Given the description of an element on the screen output the (x, y) to click on. 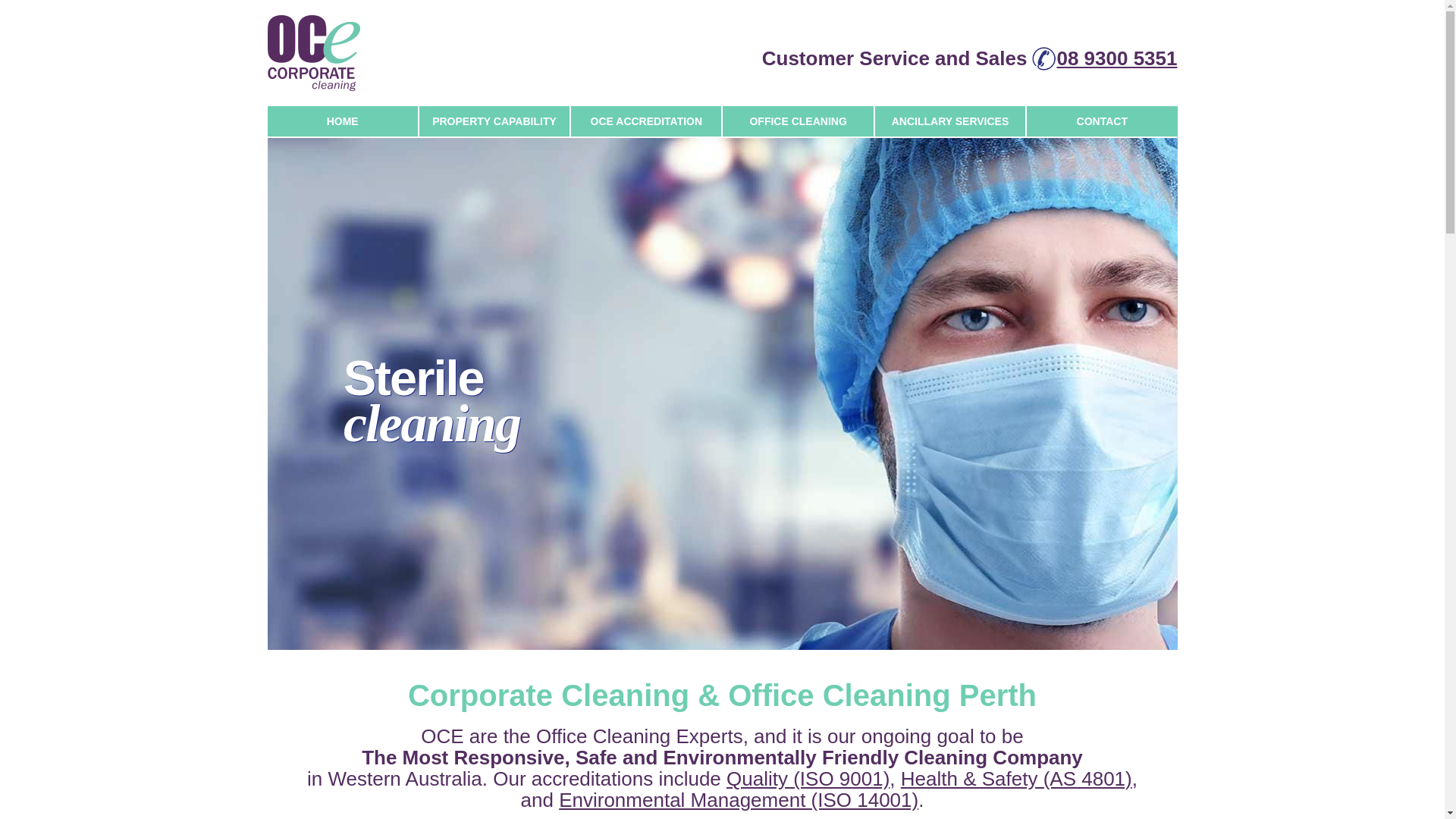
Environmental Management (ISO 14001) Element type: text (738, 799)
Quality (ISO 9001) Element type: text (807, 778)
PROPERTY CAPABILITY Element type: text (494, 121)
CONTACT Element type: text (1101, 121)
OFFICE CLEANING Element type: text (797, 121)
HOME Element type: text (341, 121)
Health & Safety (AS 4801) Element type: text (1016, 778)
ANCILLARY SERVICES Element type: text (950, 121)
08 9300 5351 Element type: text (1116, 58)
OCE ACCREDITATION Element type: text (646, 121)
